Given the description of an element on the screen output the (x, y) to click on. 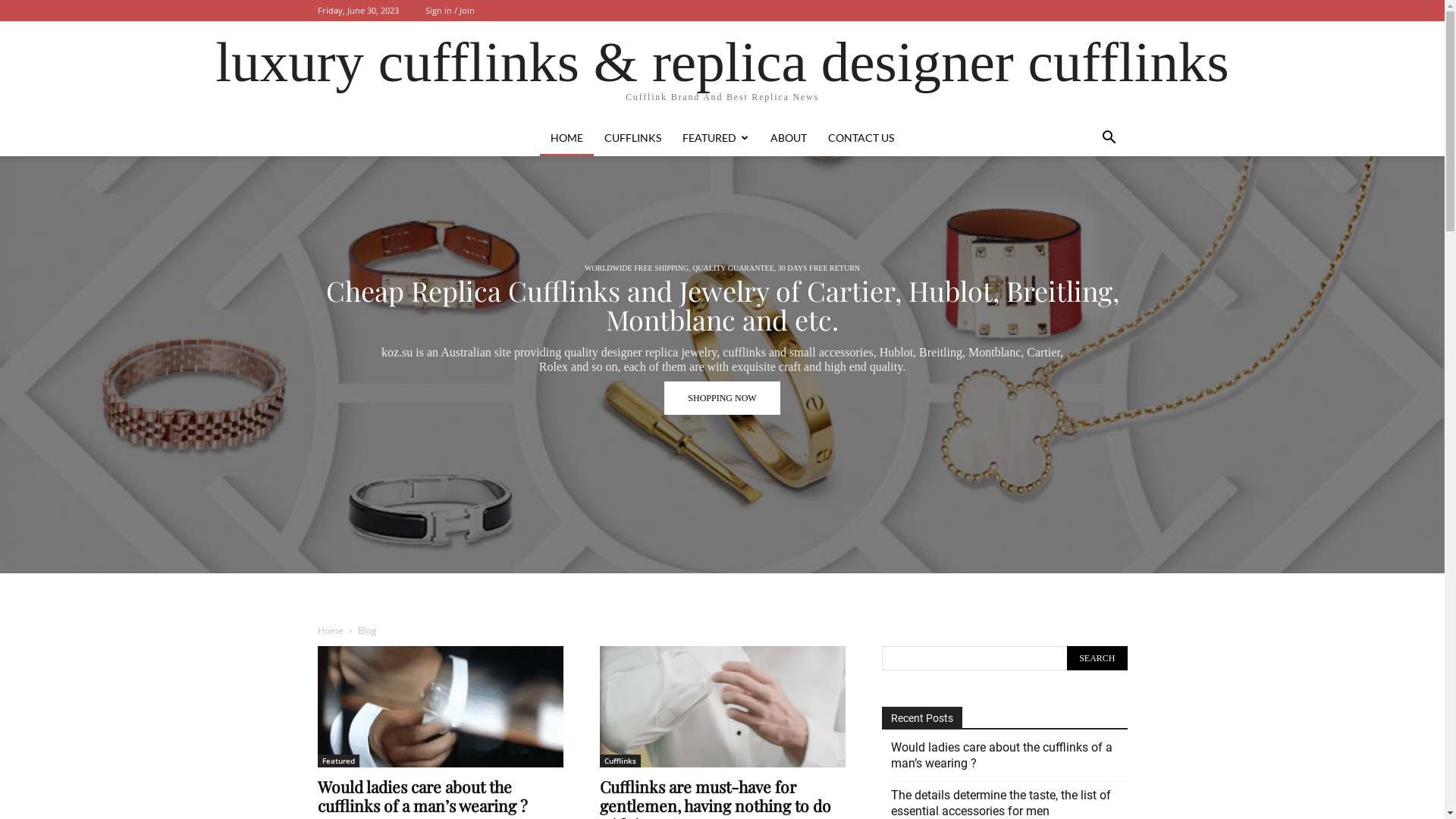
ABOUT Element type: text (788, 137)
Home Element type: text (329, 630)
FEATURED Element type: text (715, 137)
Search Element type: text (1081, 198)
Cufflinks Element type: text (619, 760)
Search Element type: text (1096, 658)
SHOPPING NOW Element type: text (721, 368)
Featured Element type: text (337, 760)
CUFFLINKS Element type: text (632, 137)
Sign in / Join Element type: text (448, 9)
HOME Element type: text (566, 137)
CONTACT US Element type: text (860, 137)
